Given the description of an element on the screen output the (x, y) to click on. 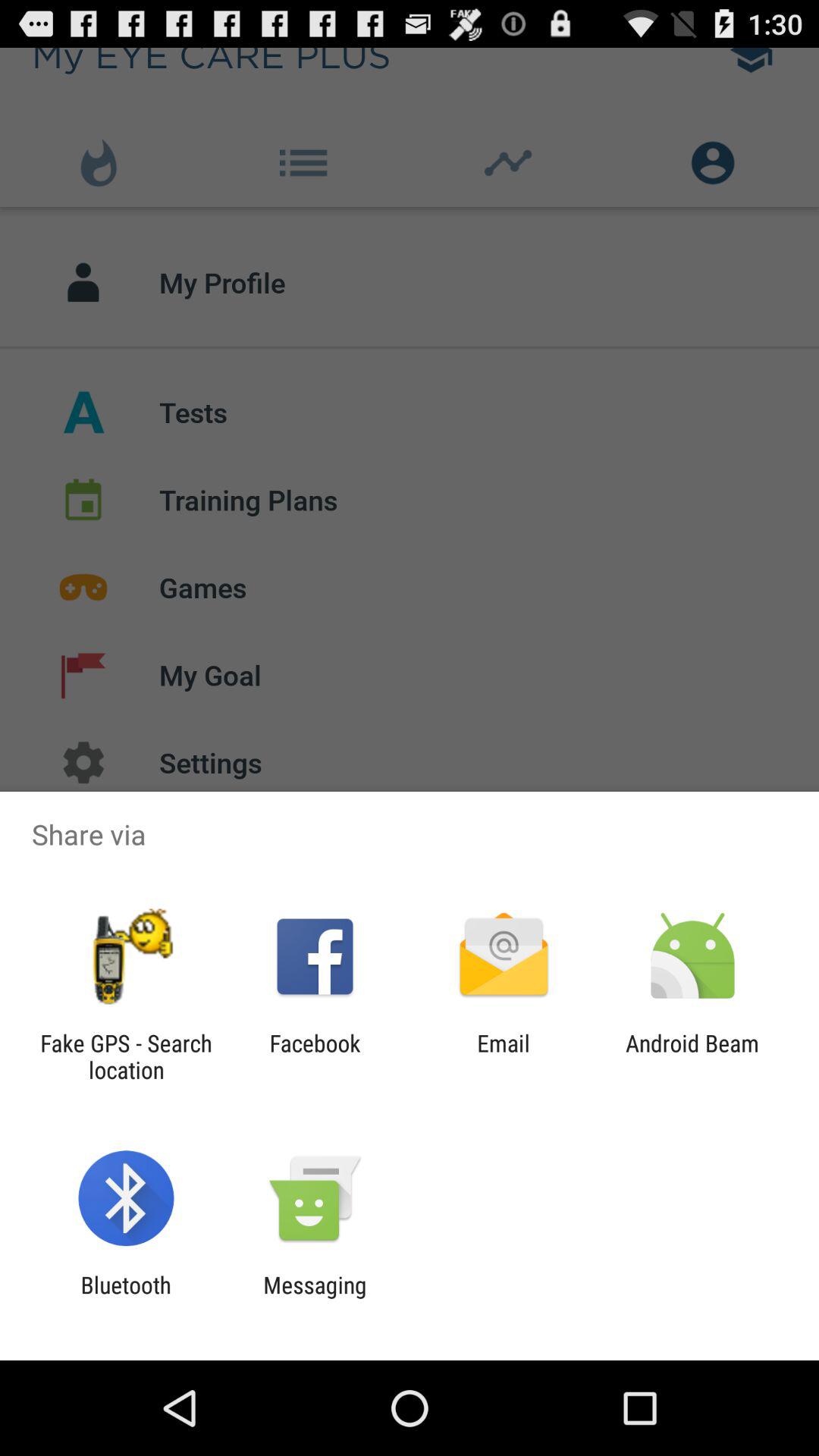
press the app next to email (692, 1056)
